Given the description of an element on the screen output the (x, y) to click on. 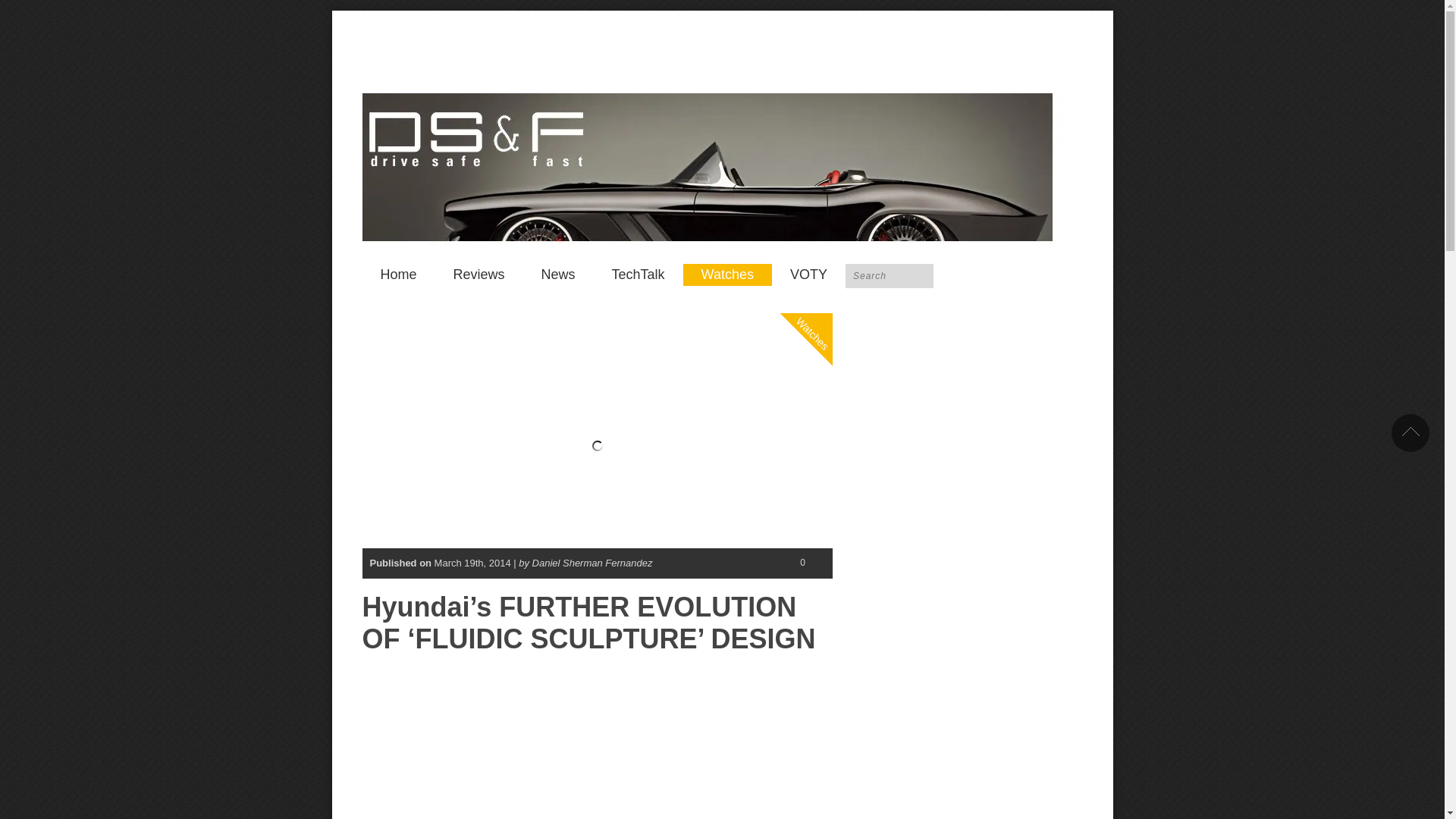
TechTalk (638, 274)
News (558, 274)
VOTY (808, 274)
Watches (828, 271)
Watches (726, 274)
Reviews (478, 274)
Home (398, 274)
